Given the description of an element on the screen output the (x, y) to click on. 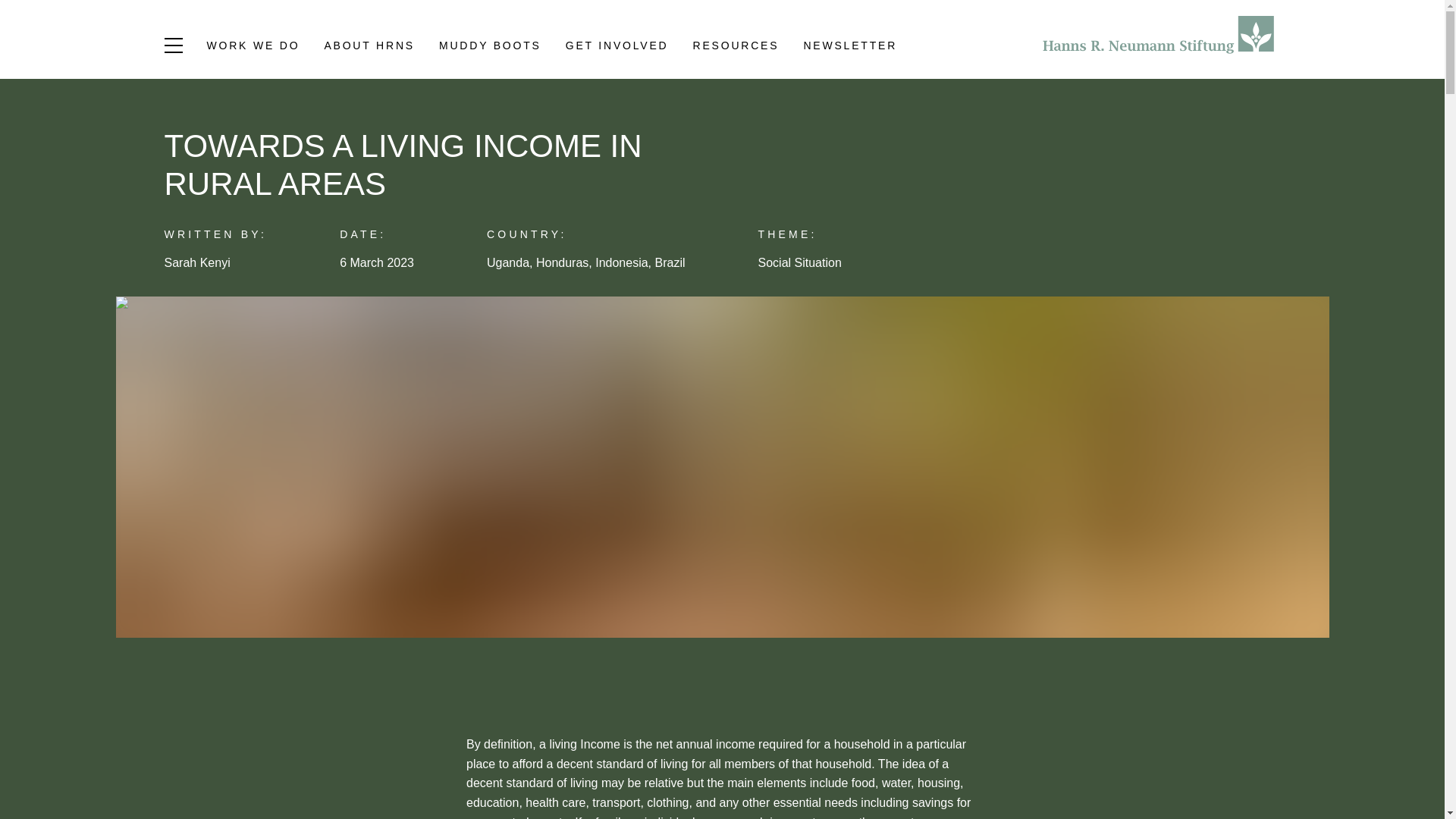
NEWSLETTER (849, 48)
MUDDY BOOTS (490, 48)
HRNS on YouTube (221, 46)
WORK WE DO (252, 48)
RESOURCES (735, 48)
HRNS on Facebook (176, 46)
HRNS on Instagram (130, 46)
ABOUT HRNS (368, 48)
GET INVOLVED (617, 48)
HRNS on LinkedIn (83, 46)
